Given the description of an element on the screen output the (x, y) to click on. 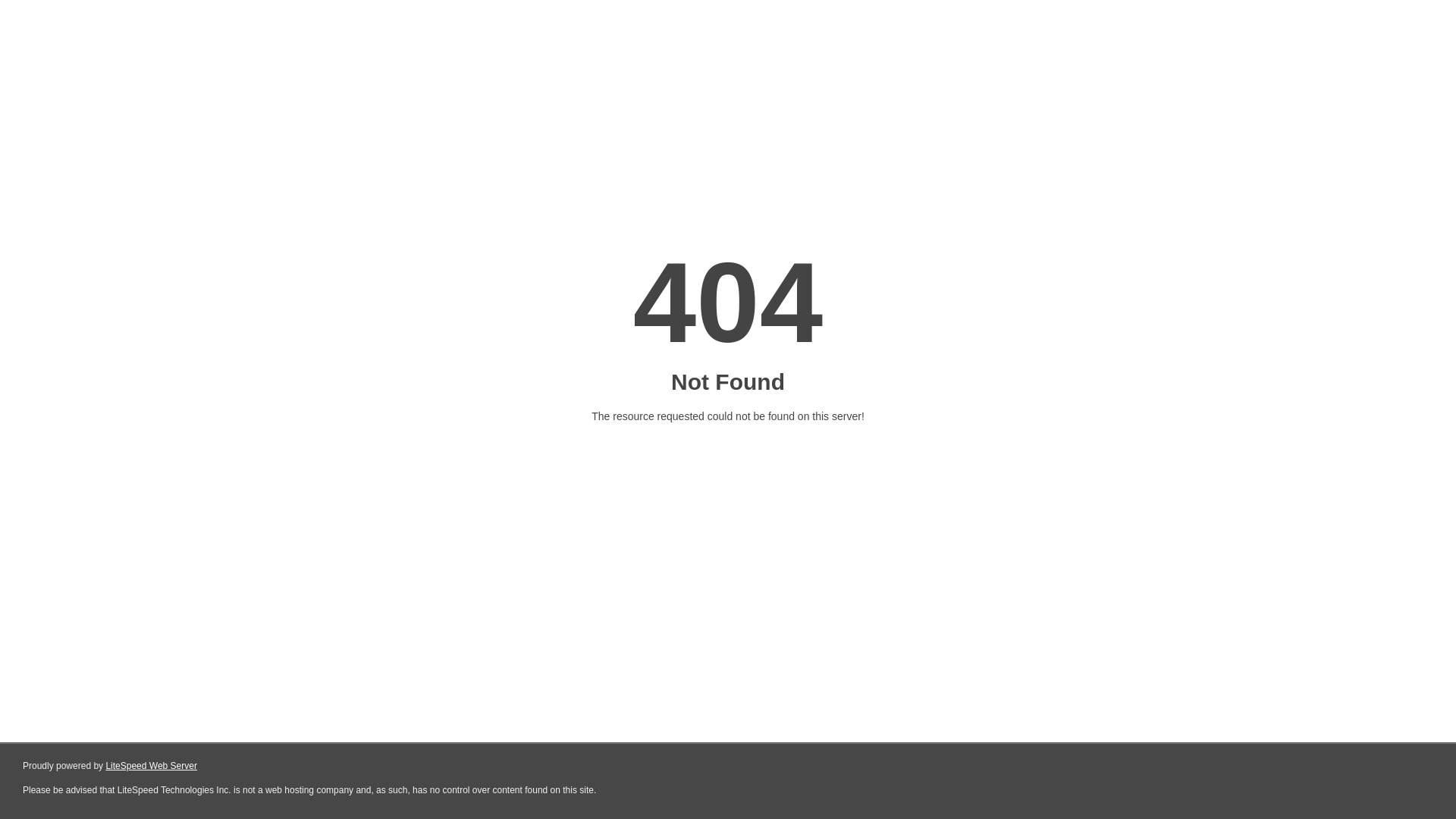
LiteSpeed Web Server Element type: text (151, 765)
